Given the description of an element on the screen output the (x, y) to click on. 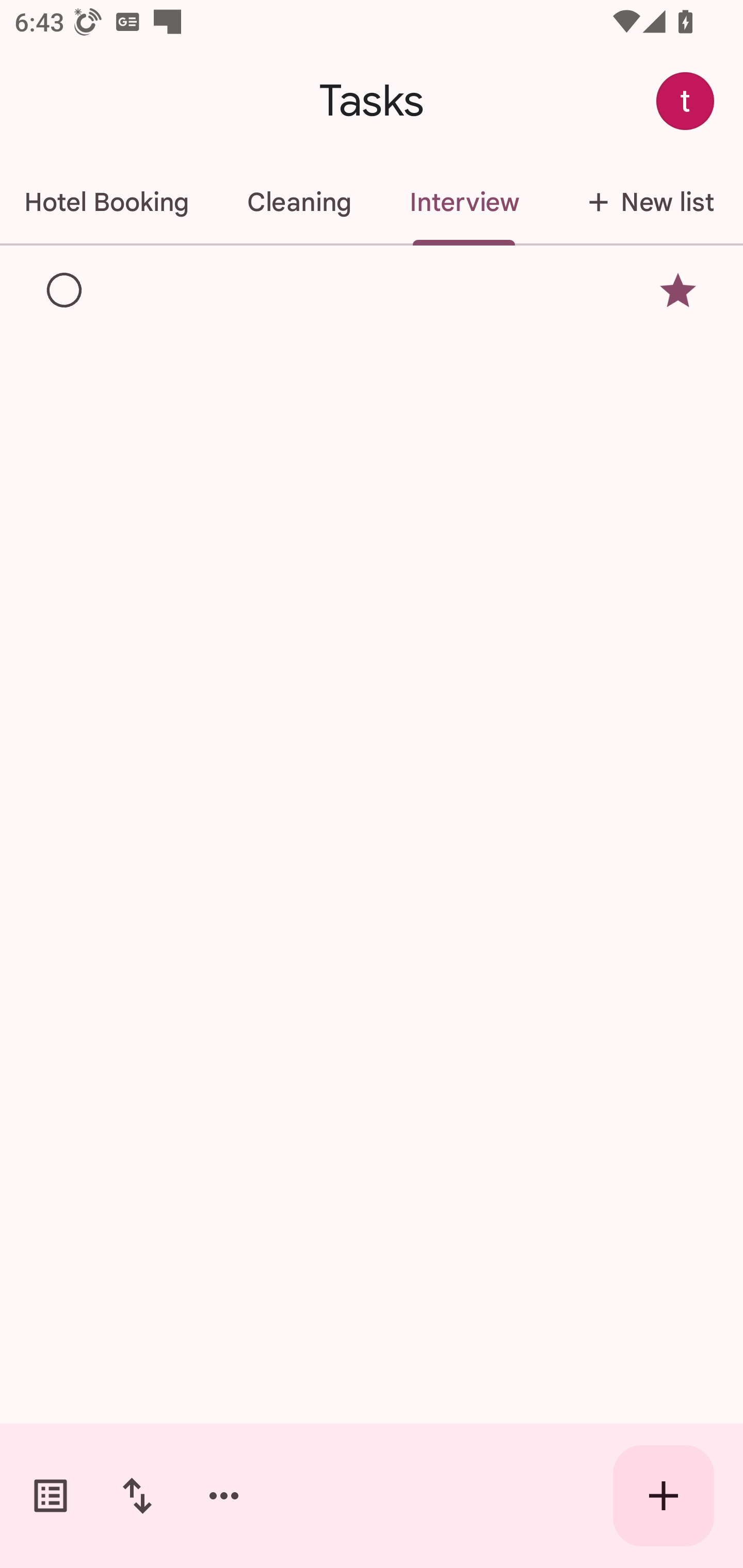
Hotel Booking (108, 202)
Cleaning (298, 202)
New list (645, 202)
(No title), Starred Remove star Mark as complete (371, 289)
Remove star (677, 290)
Mark as complete (64, 290)
Switch task lists (50, 1495)
Create new task (663, 1495)
Change sort order (136, 1495)
More options (223, 1495)
